Given the description of an element on the screen output the (x, y) to click on. 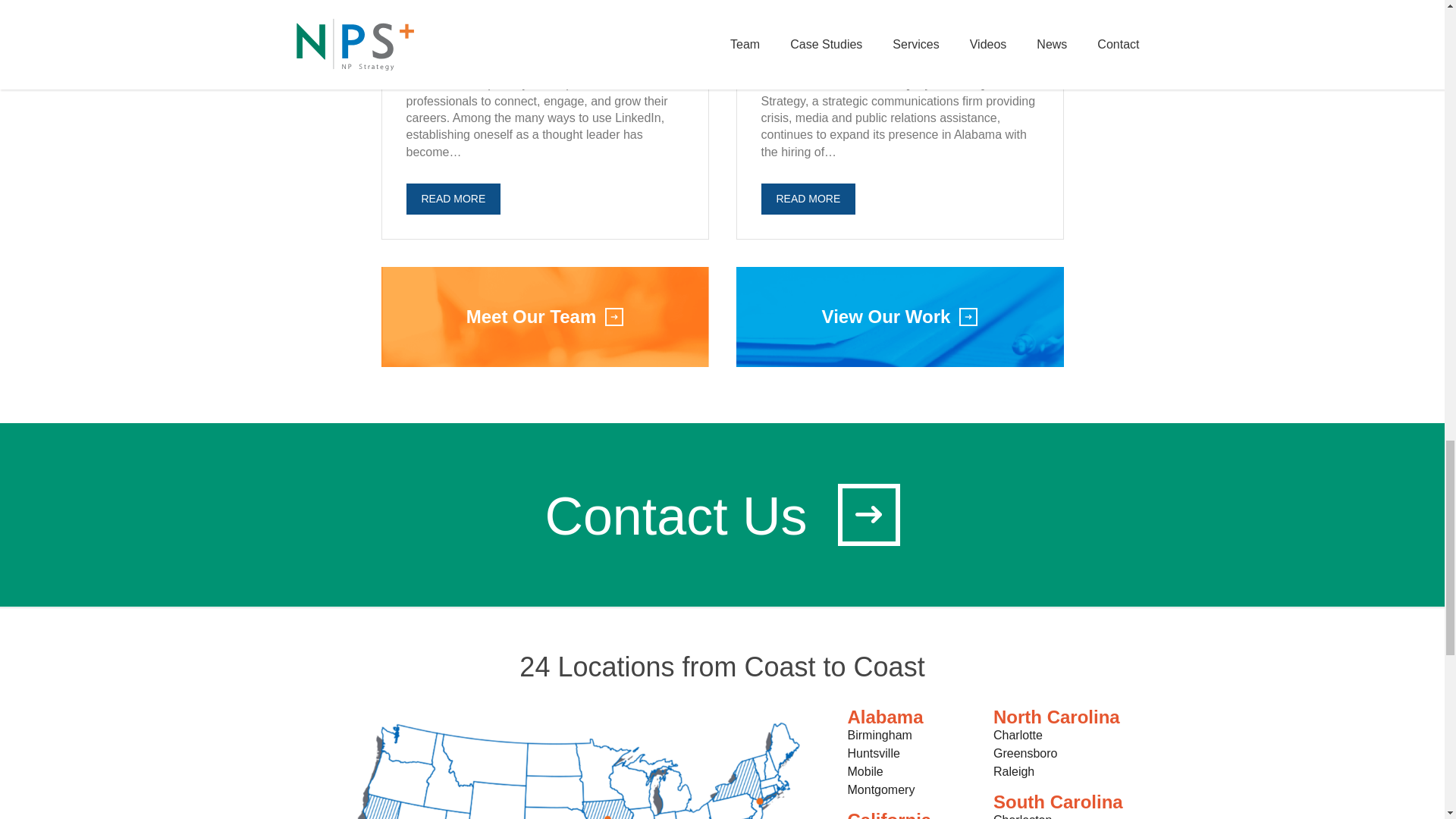
READ MORE (808, 198)
Establish Yourself as a Thought Leader on LinkedIn (543, 40)
View Our Work (898, 316)
READ MORE (453, 198)
Meet Our Team (543, 316)
NP Strategy Strengthens Alabama Team (868, 40)
